Given the description of an element on the screen output the (x, y) to click on. 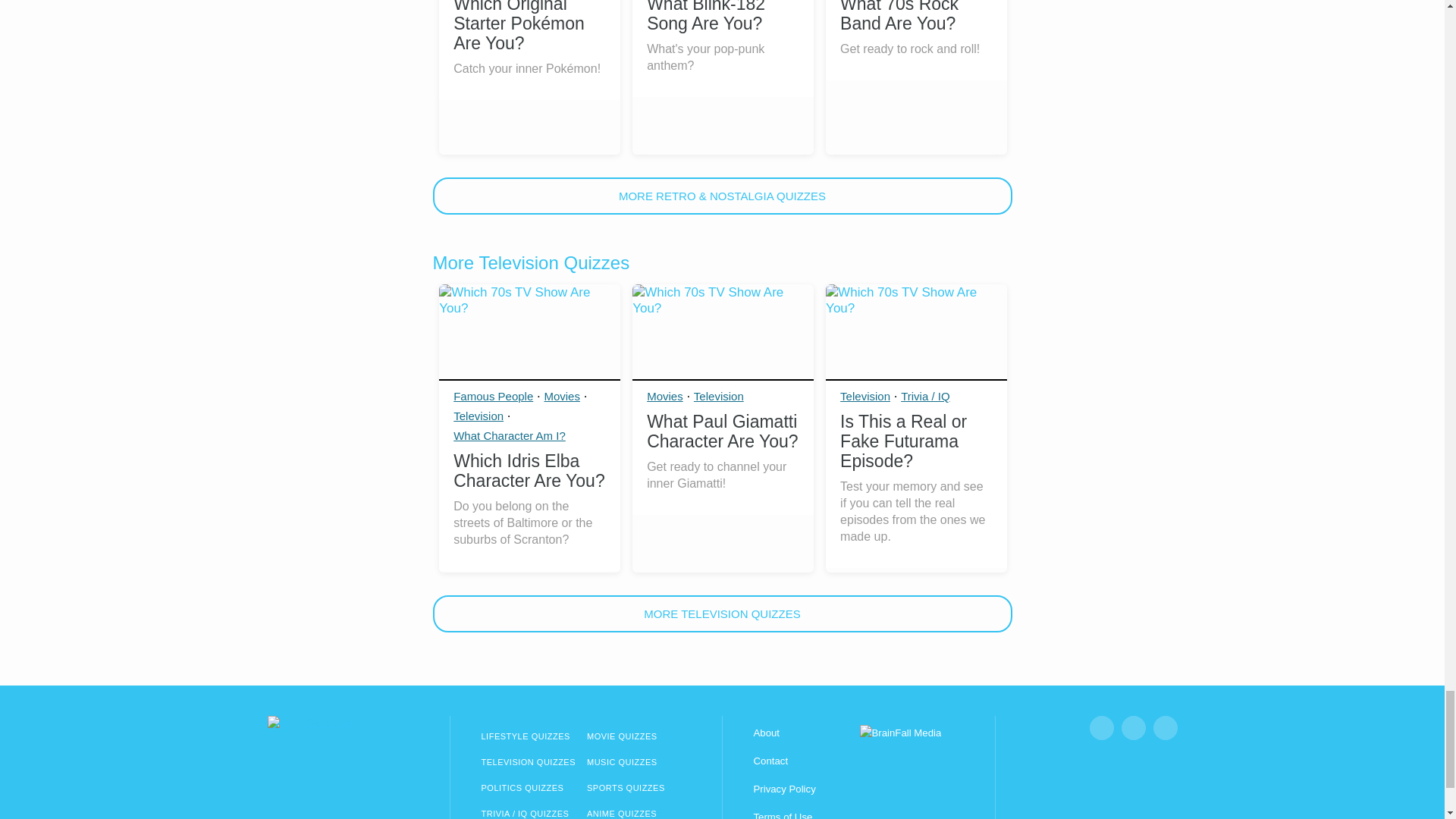
Follow us on Instagram! (1132, 727)
Like us on Facebook! (1101, 727)
Follow us on Twitter! (1164, 727)
